Given the description of an element on the screen output the (x, y) to click on. 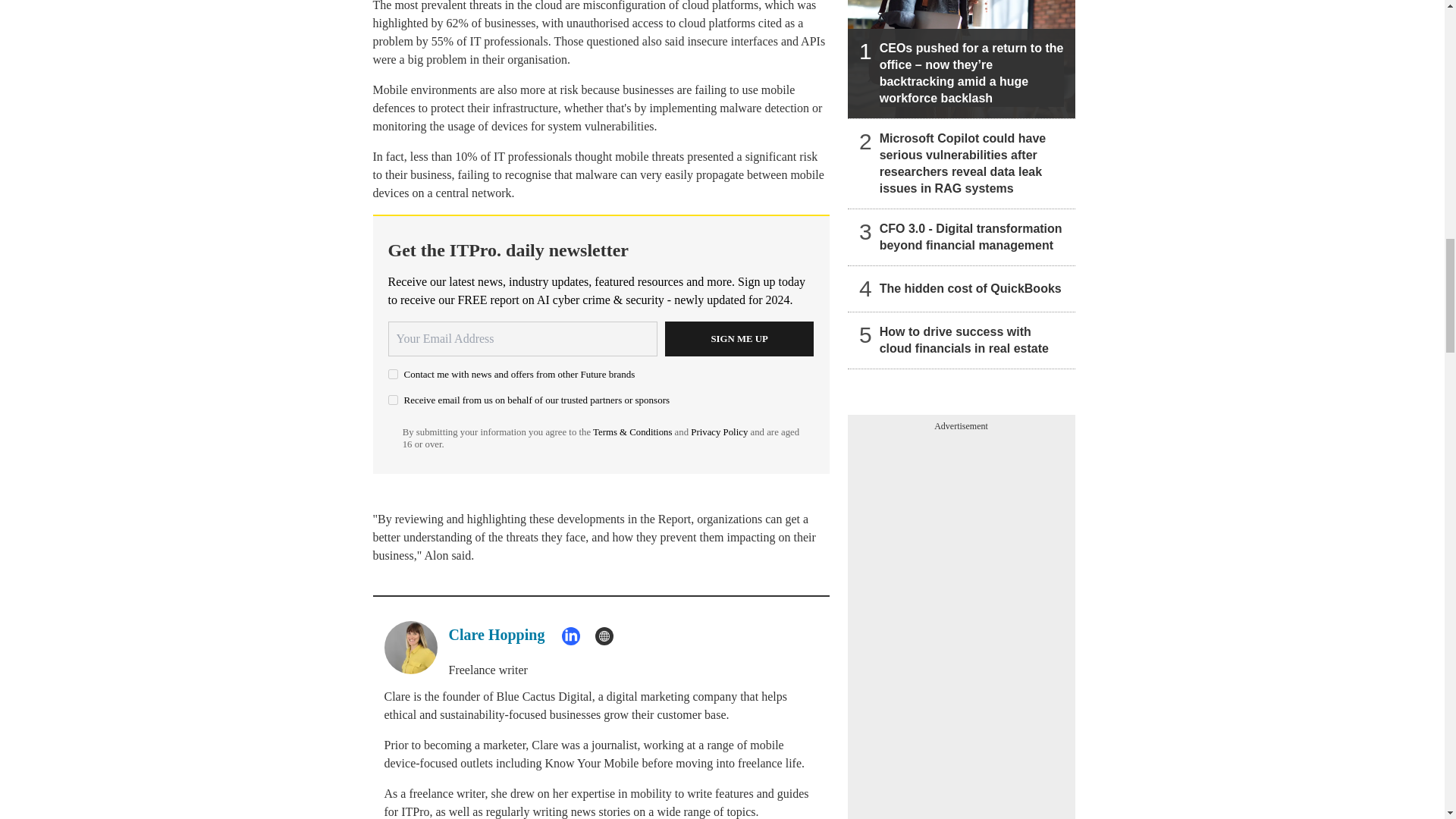
Sign me up (739, 338)
on (392, 399)
on (392, 374)
